Given the description of an element on the screen output the (x, y) to click on. 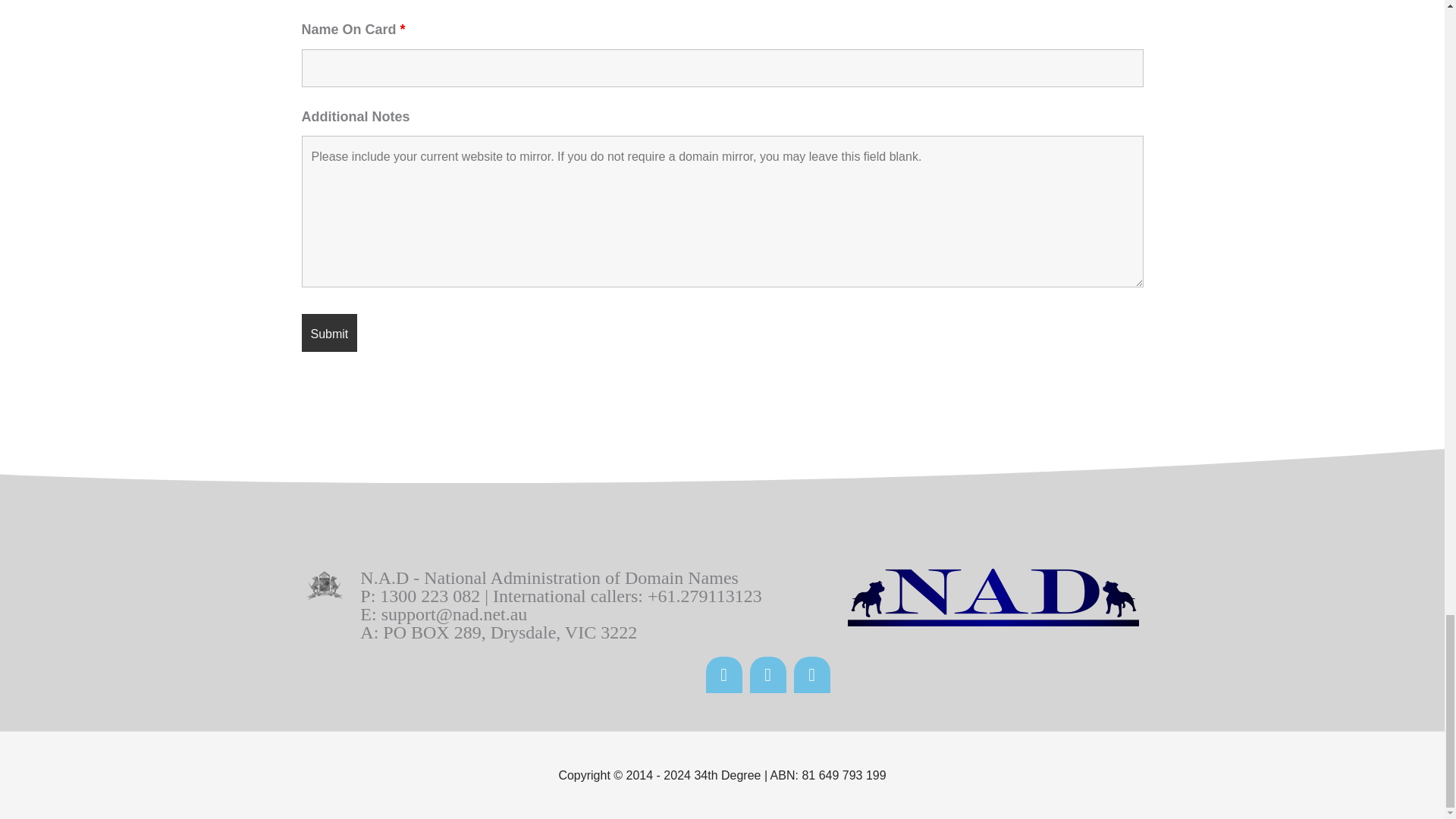
Submit (329, 332)
Submit (329, 332)
2019 34th Degree Logo (323, 587)
